Given the description of an element on the screen output the (x, y) to click on. 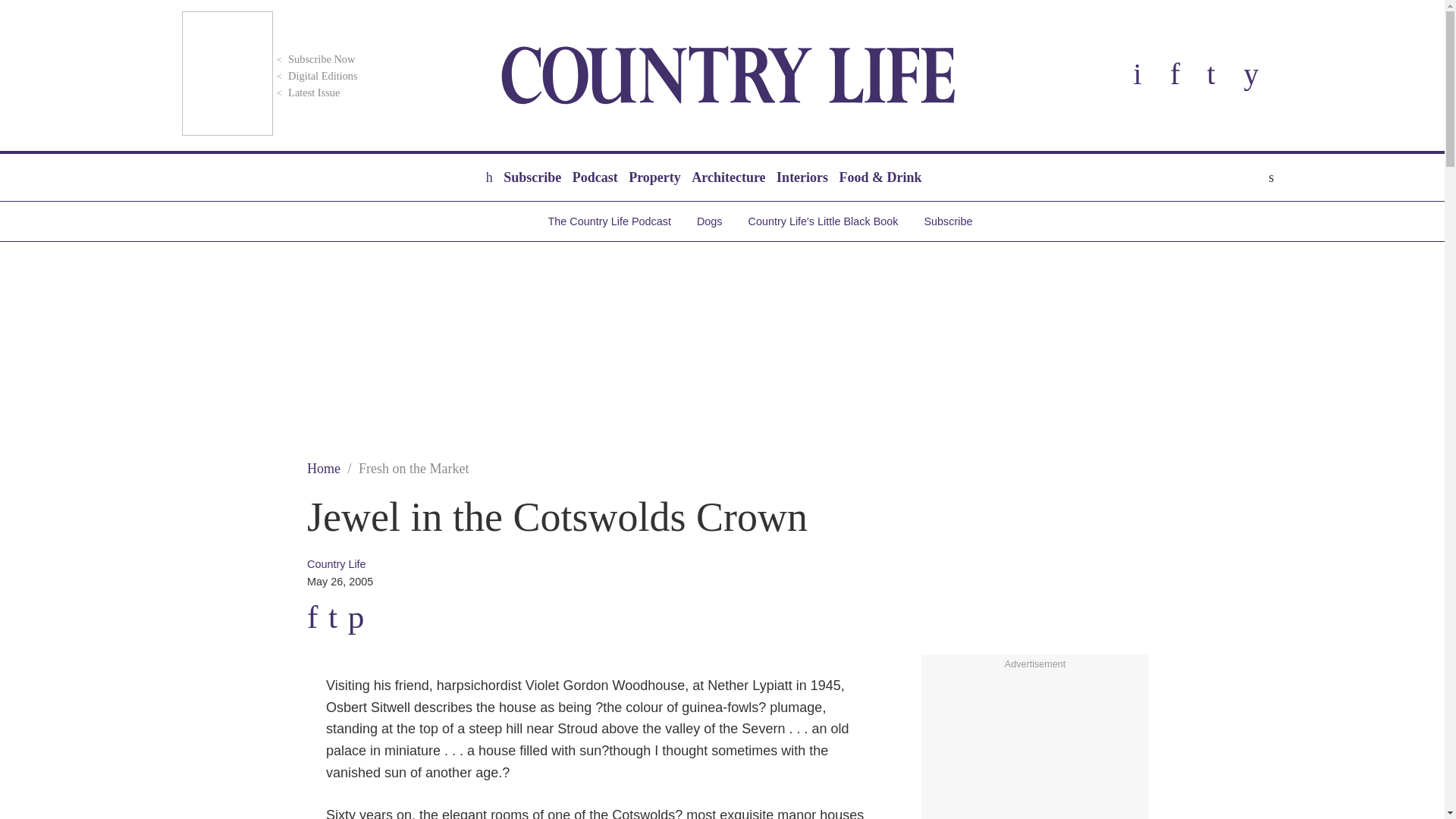
Subscribe Now (314, 59)
Property (654, 176)
Digital Editions (315, 75)
Architecture (727, 176)
Latest Issue (306, 92)
Interiors (802, 176)
Country Life (727, 74)
Subscribe (531, 176)
Podcast (595, 176)
